Given the description of an element on the screen output the (x, y) to click on. 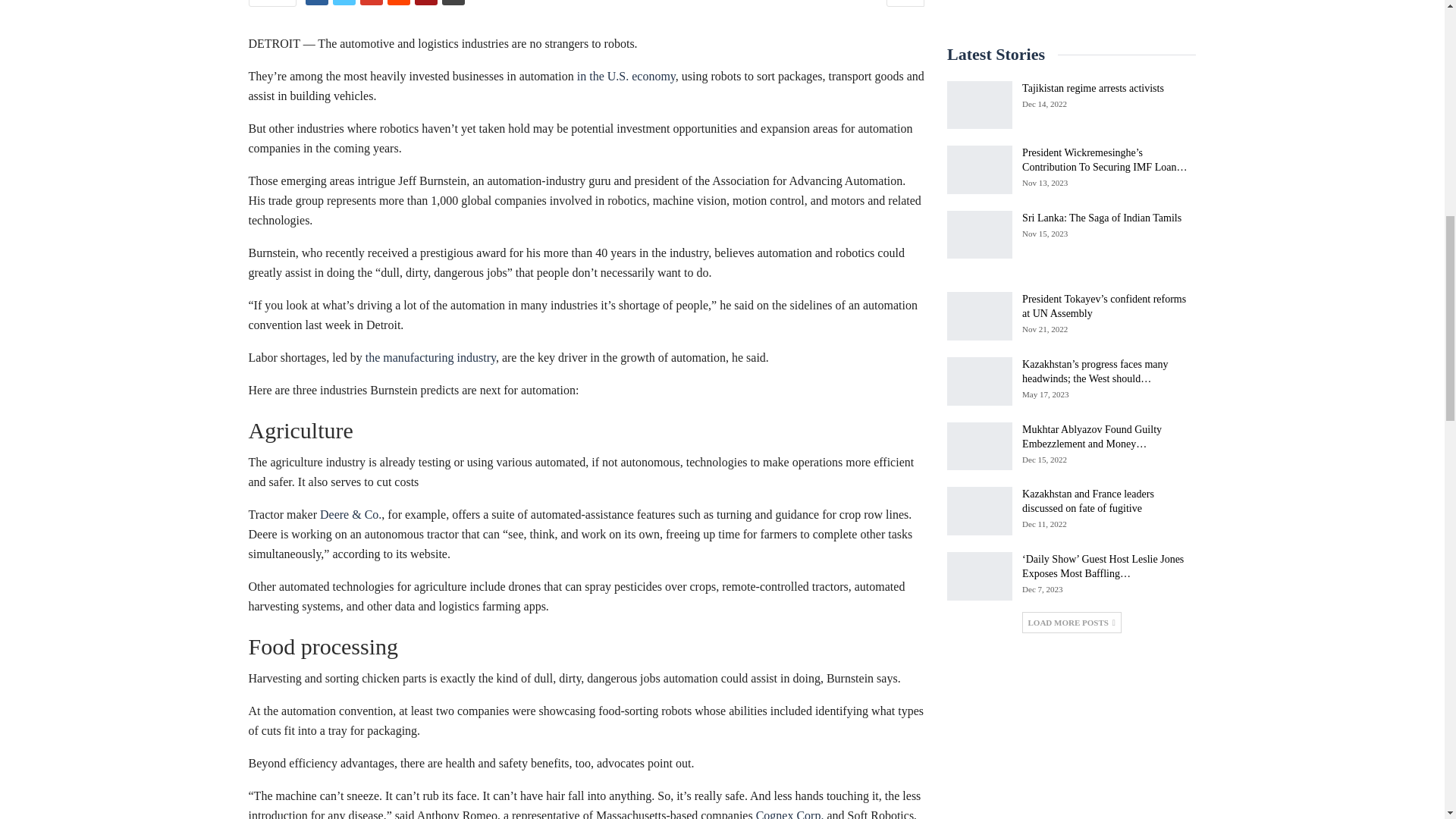
Tajikistan regime arrests activists (979, 105)
Sri Lanka: The Saga of Indian Tamils (979, 234)
